Given the description of an element on the screen output the (x, y) to click on. 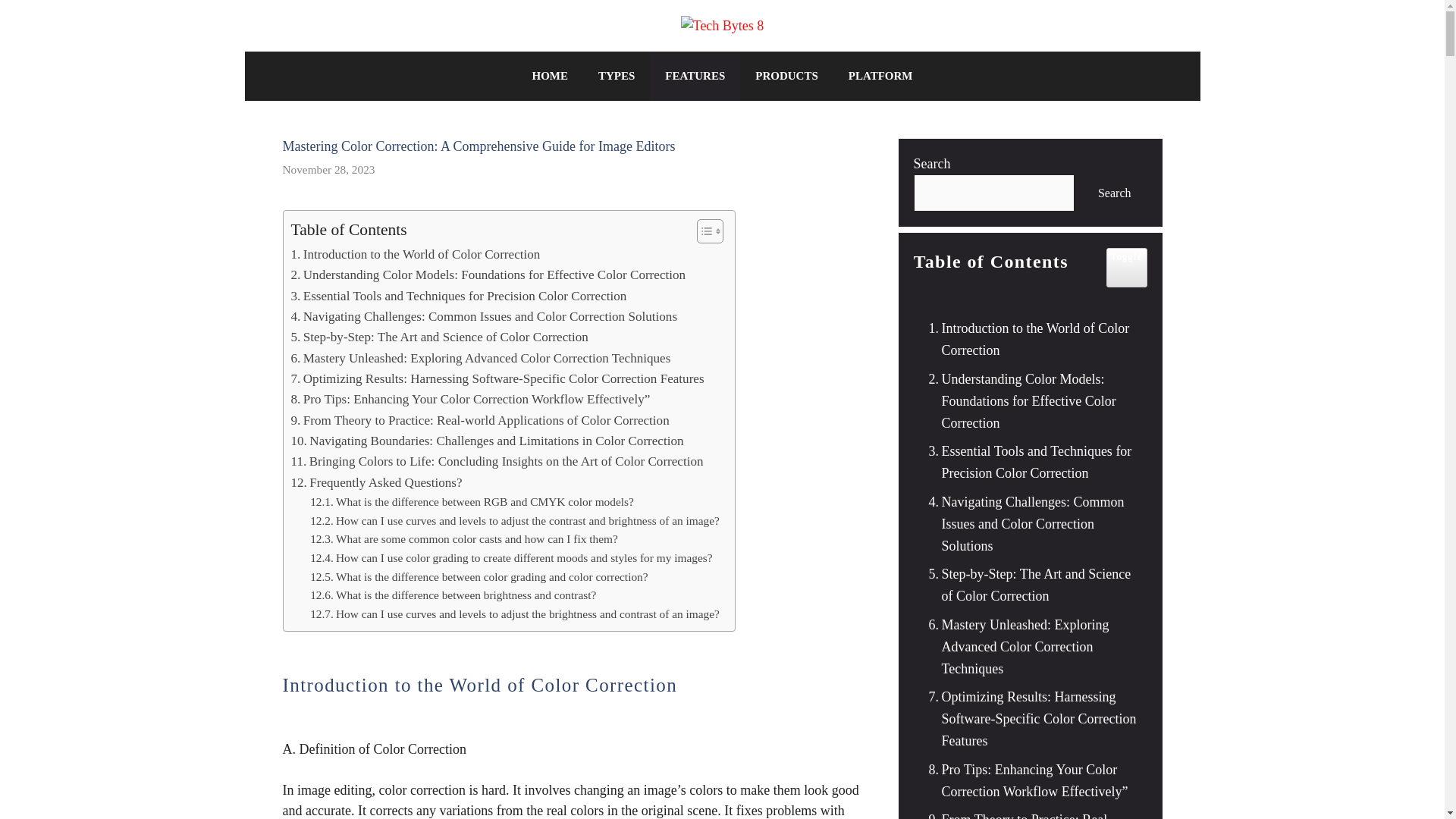
HOME (549, 75)
Frequently Asked Questions? (377, 482)
Frequently Asked Questions? (377, 482)
Step-by-Step: The Art and Science of Color Correction (439, 336)
TYPES (616, 75)
FEATURES (694, 75)
PLATFORM (880, 75)
Step-by-Step: The Art and Science of Color Correction (439, 336)
